Given the description of an element on the screen output the (x, y) to click on. 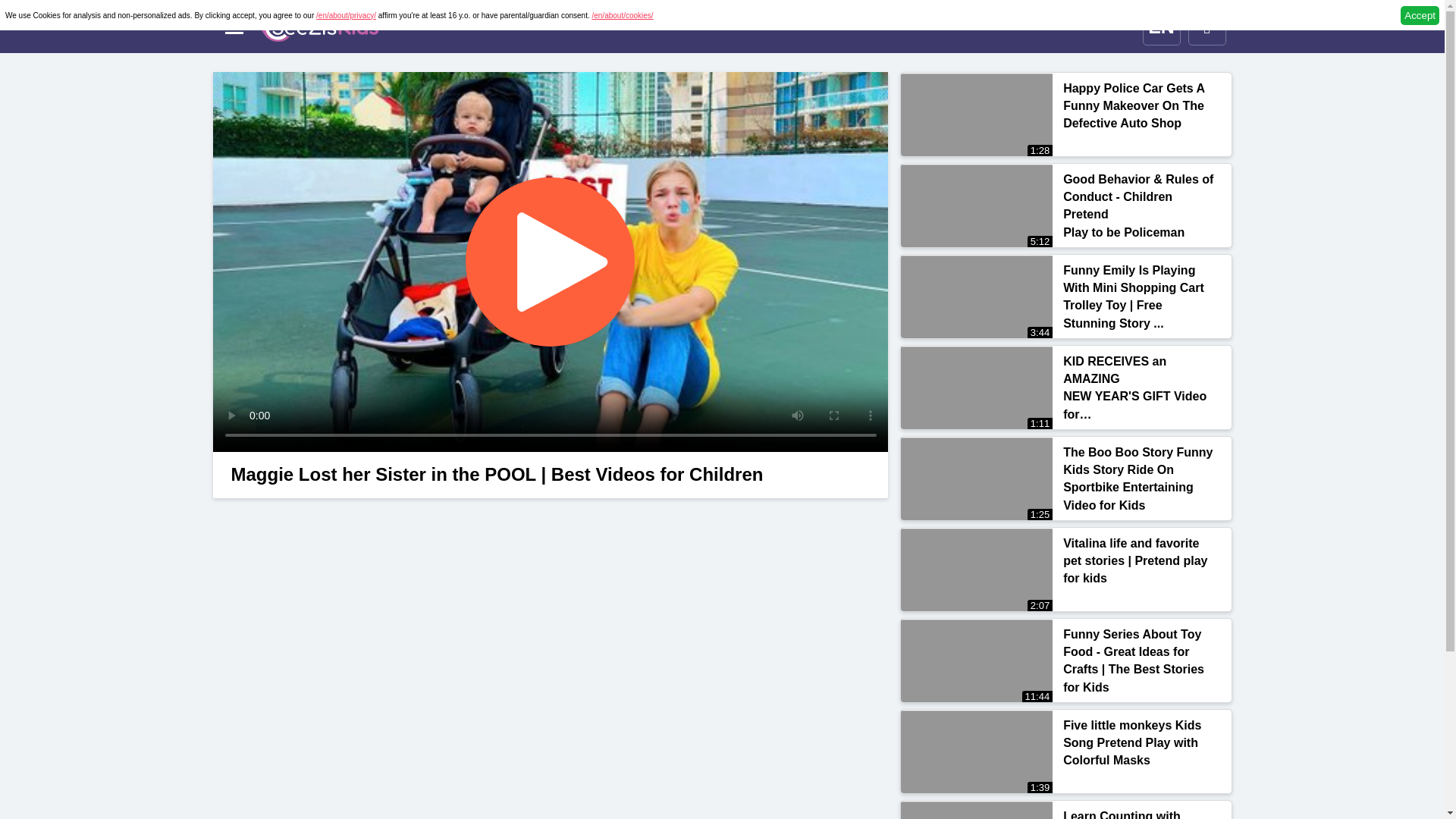
en (318, 26)
